Given the description of an element on the screen output the (x, y) to click on. 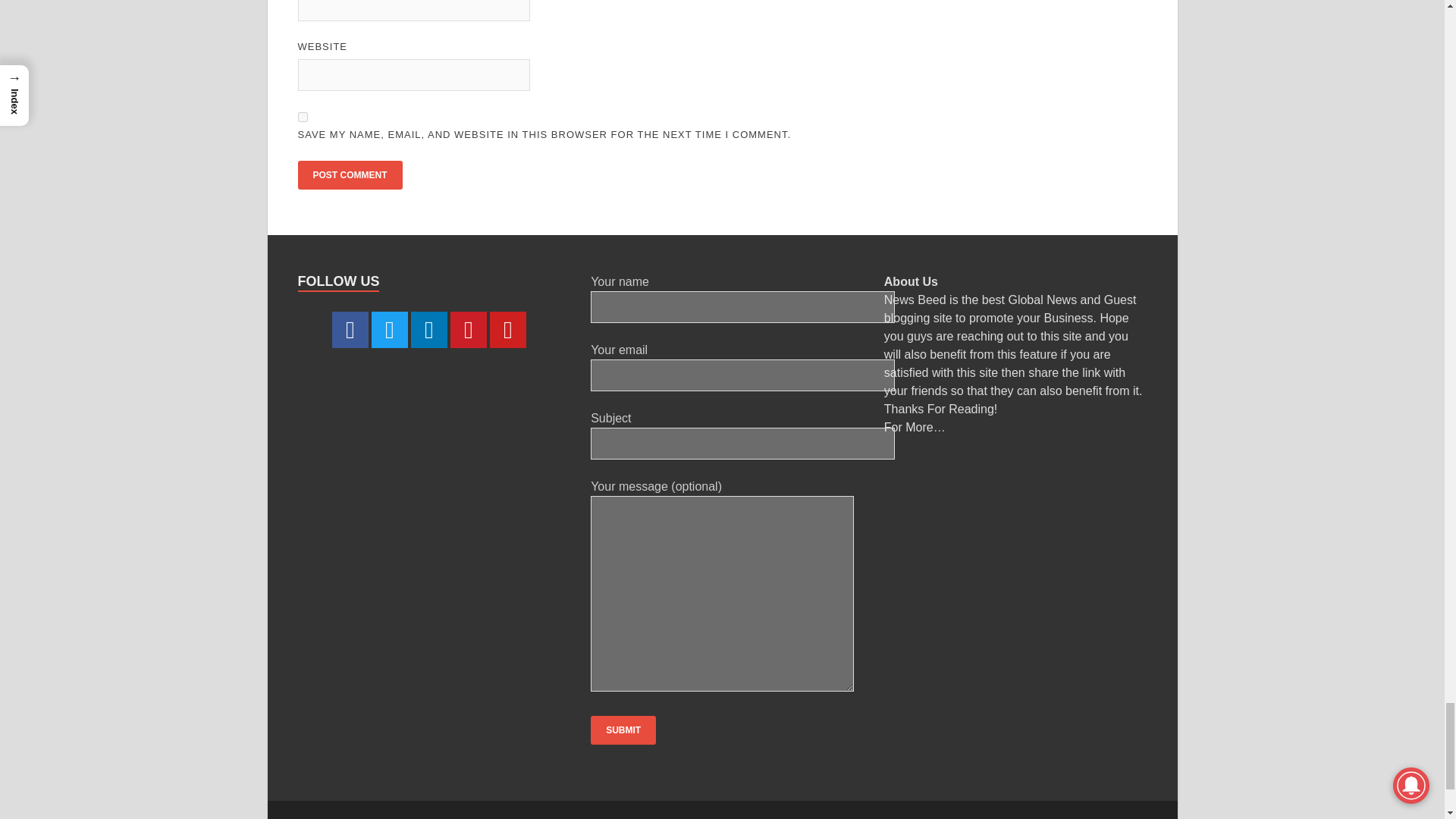
Post Comment (349, 174)
yes (302, 117)
Submit (623, 729)
